Given the description of an element on the screen output the (x, y) to click on. 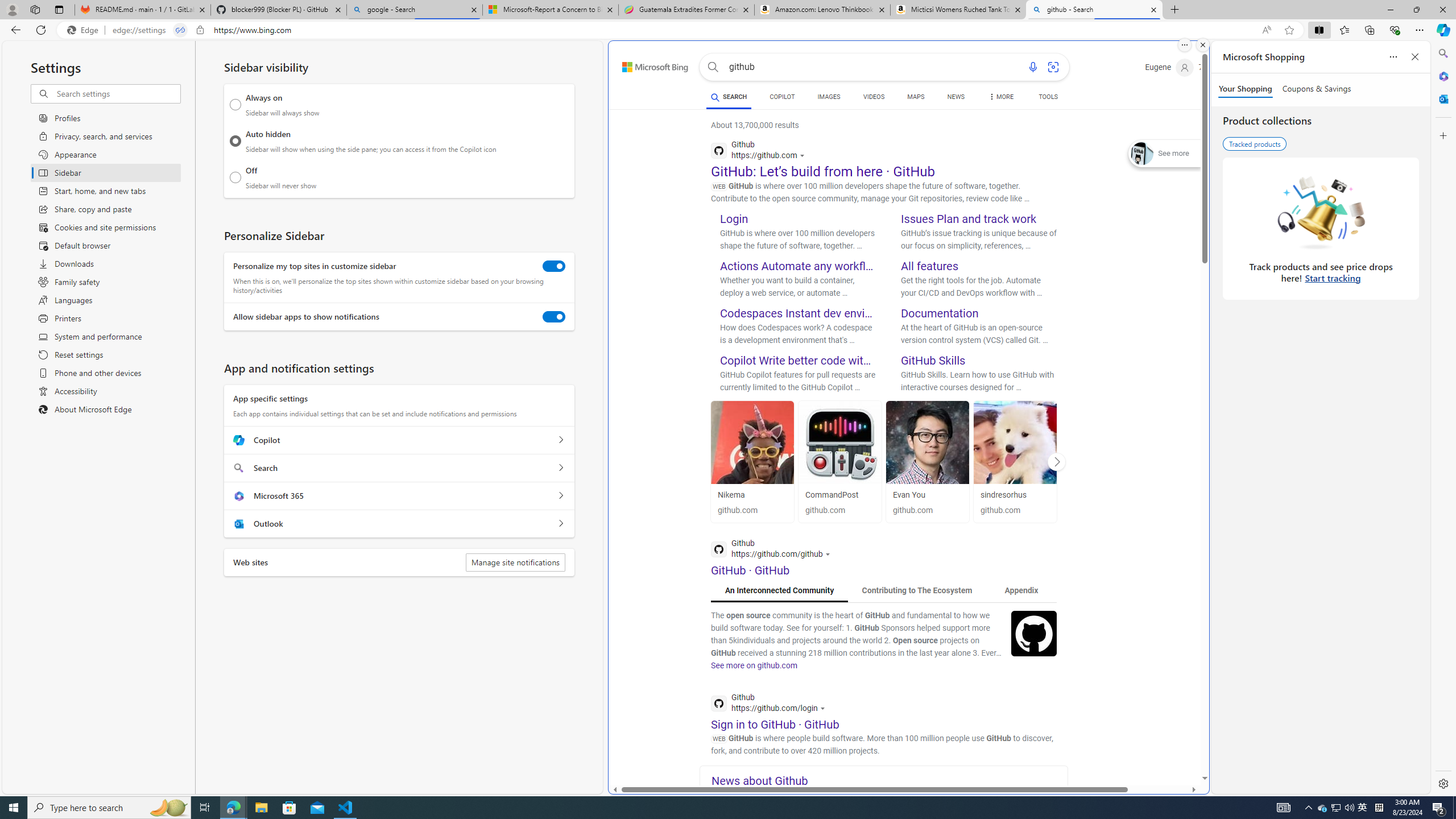
Image (1034, 633)
Actions for this site (823, 708)
Nikema Nikema github.com (751, 461)
Click to scroll right (1056, 461)
Nikema (752, 494)
Nikema (751, 442)
